Given the description of an element on the screen output the (x, y) to click on. 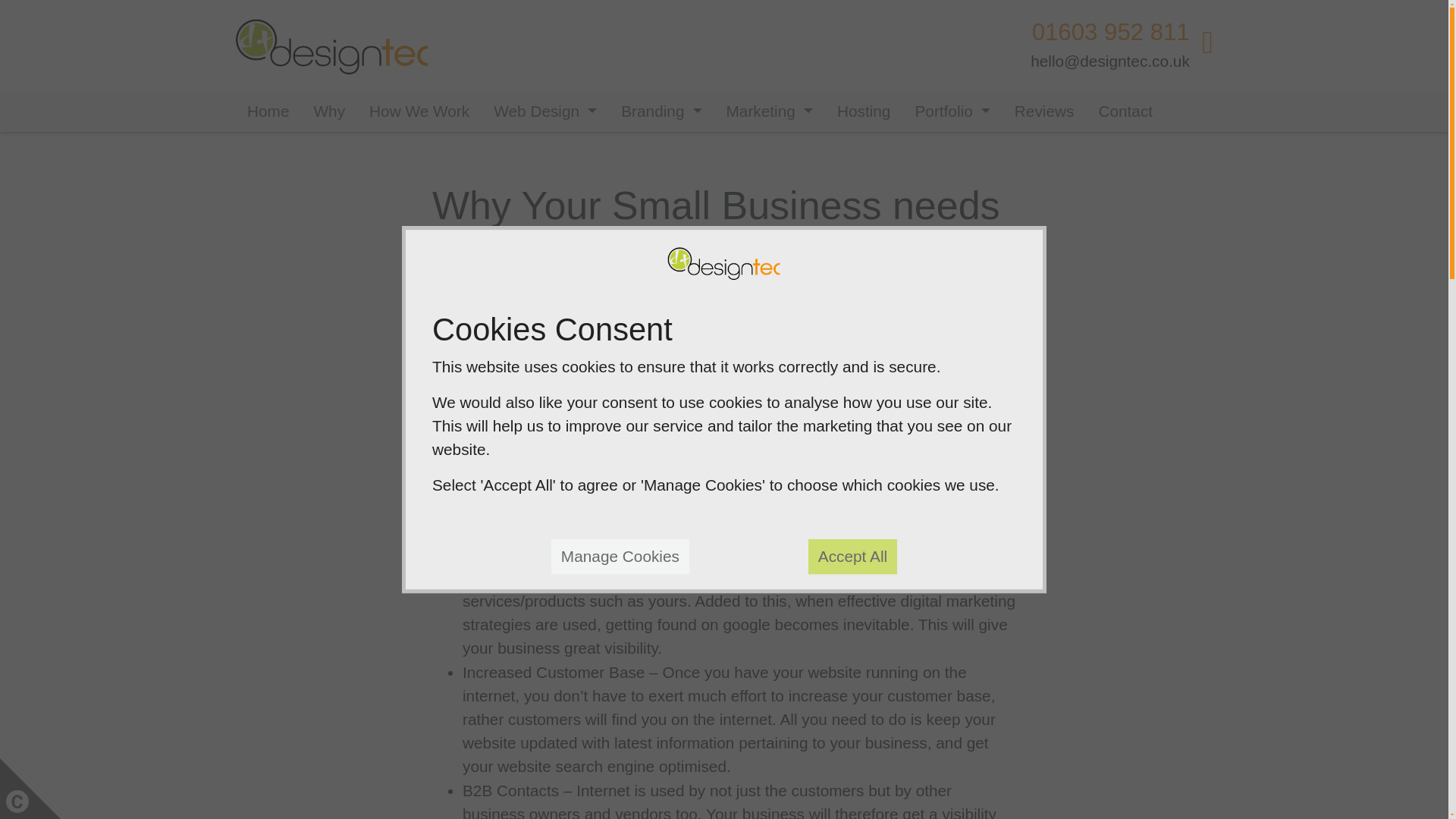
Marketing (769, 110)
website (841, 375)
Portfolio (951, 110)
Reviews (1044, 110)
Web Design (544, 110)
Link to Home (267, 110)
Link to How We Work (418, 110)
Contact (1125, 110)
Why (328, 110)
Link to Why (328, 110)
Home (267, 110)
Hosting (863, 110)
How We Work (418, 110)
Branding (660, 110)
01603 952 811 (1109, 31)
